Given the description of an element on the screen output the (x, y) to click on. 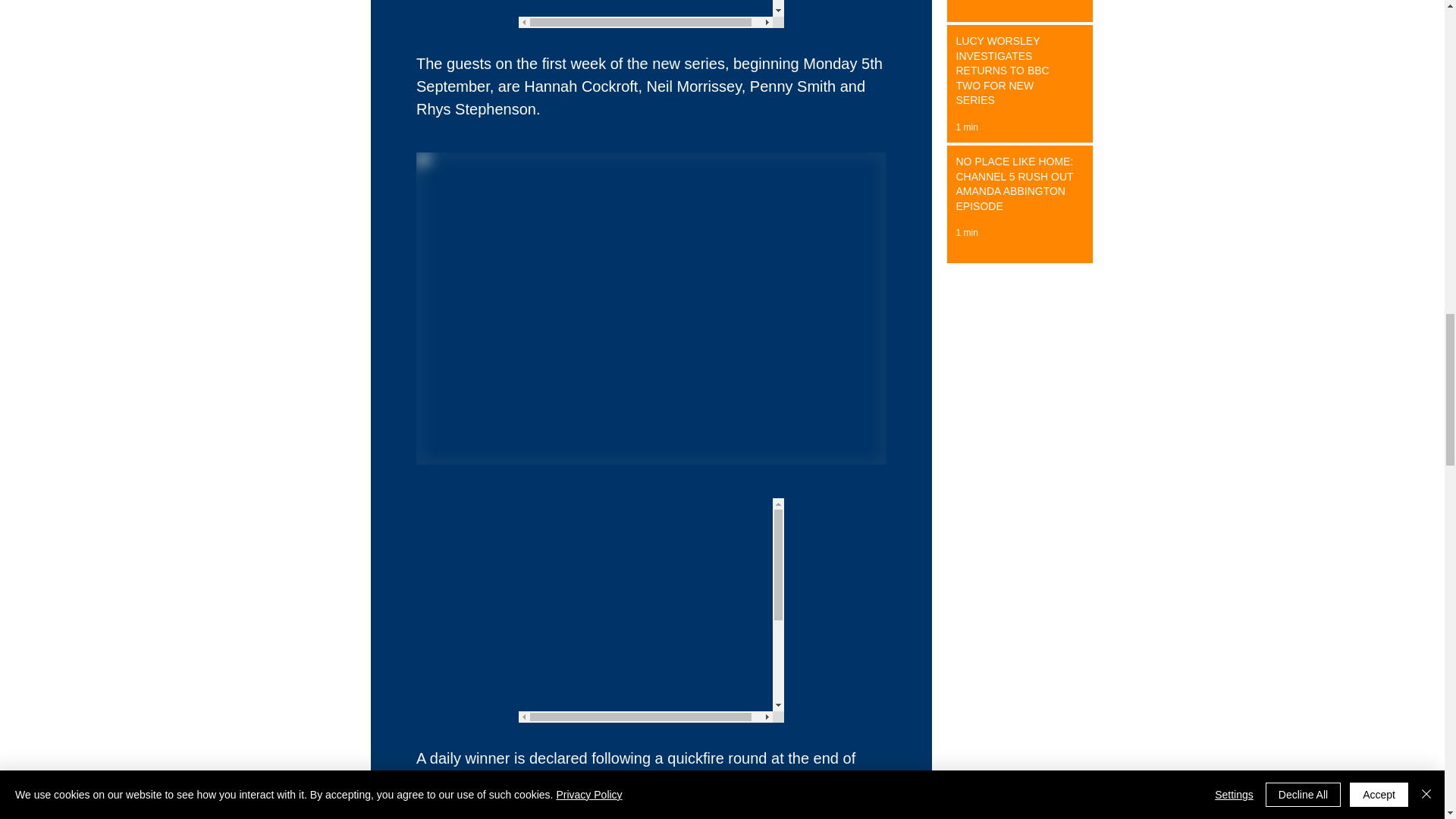
1 min (965, 127)
remote content (651, 13)
1 min (965, 232)
remote content (651, 609)
